Given the description of an element on the screen output the (x, y) to click on. 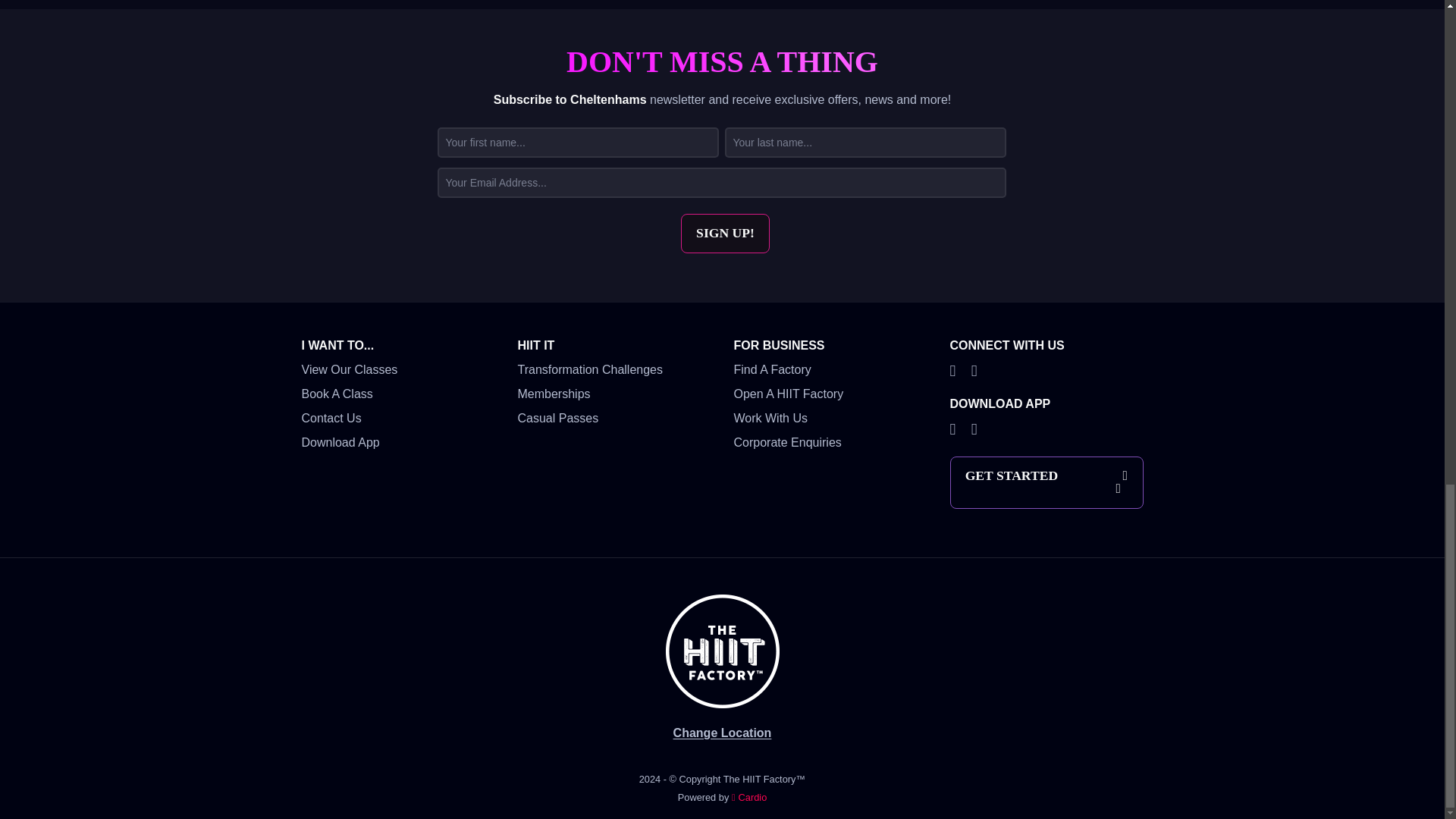
Sign Up! (725, 233)
